Given the description of an element on the screen output the (x, y) to click on. 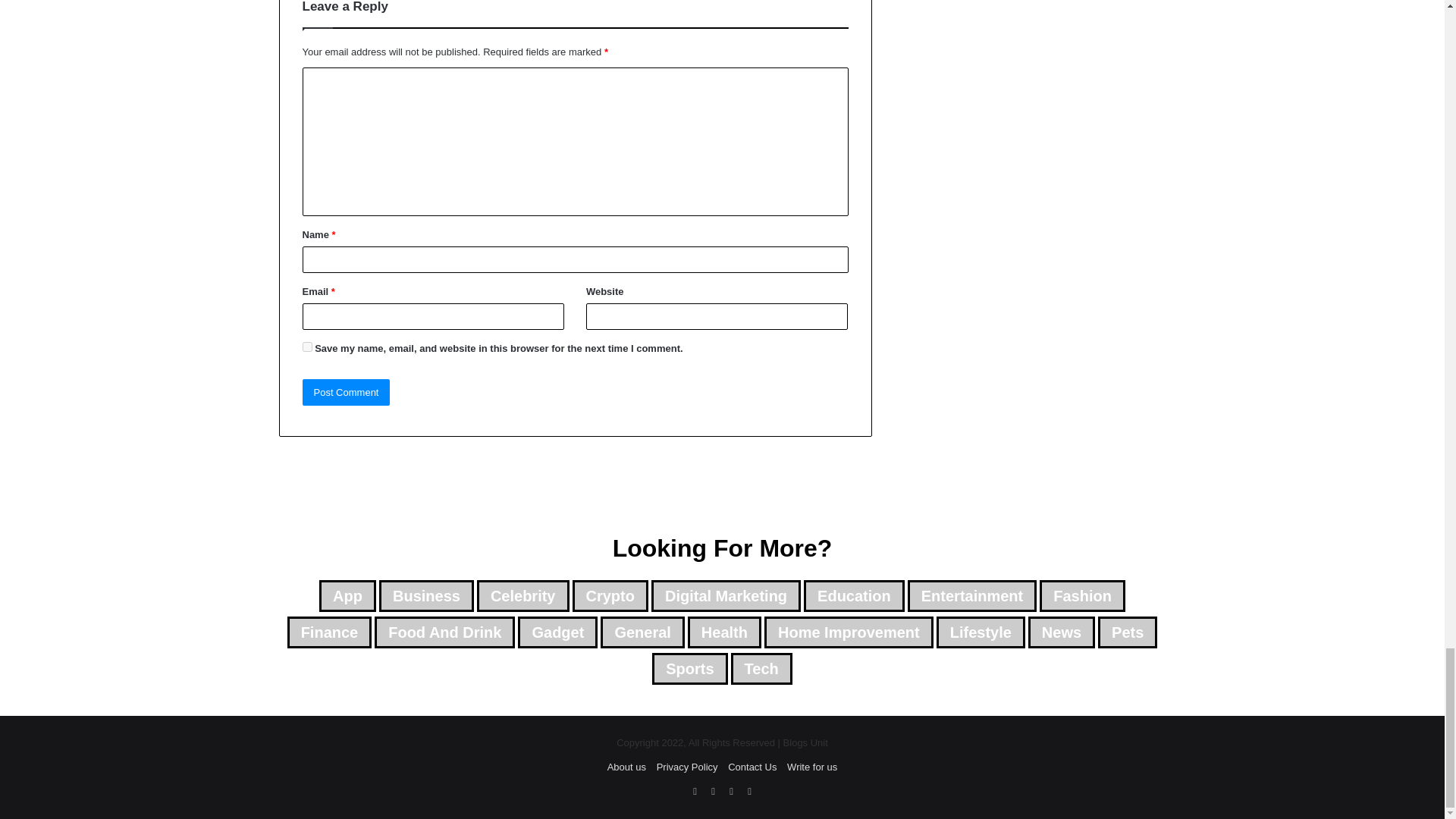
yes (306, 347)
Post Comment (345, 392)
